Given the description of an element on the screen output the (x, y) to click on. 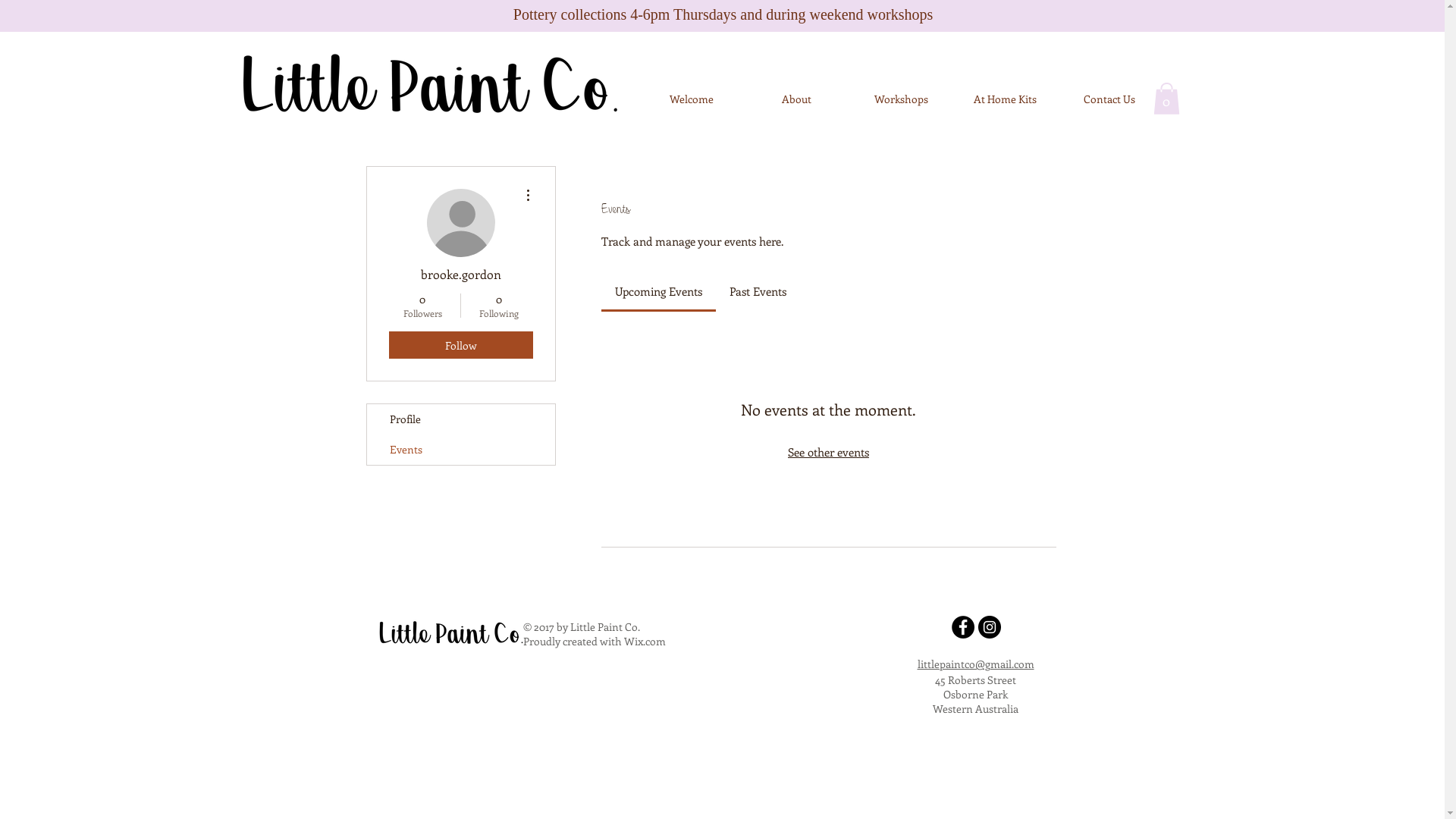
Welcome Element type: text (690, 99)
littlepaintco@gmail.com Element type: text (975, 663)
Wix.com Element type: text (644, 640)
Profile Element type: text (461, 419)
0
Following Element type: text (499, 305)
About Element type: text (796, 99)
0
Followers Element type: text (421, 305)
See other events Element type: text (828, 452)
0 Element type: text (1165, 98)
Follow Element type: text (460, 344)
Events Element type: text (461, 449)
Contact Us Element type: text (1108, 99)
